Given the description of an element on the screen output the (x, y) to click on. 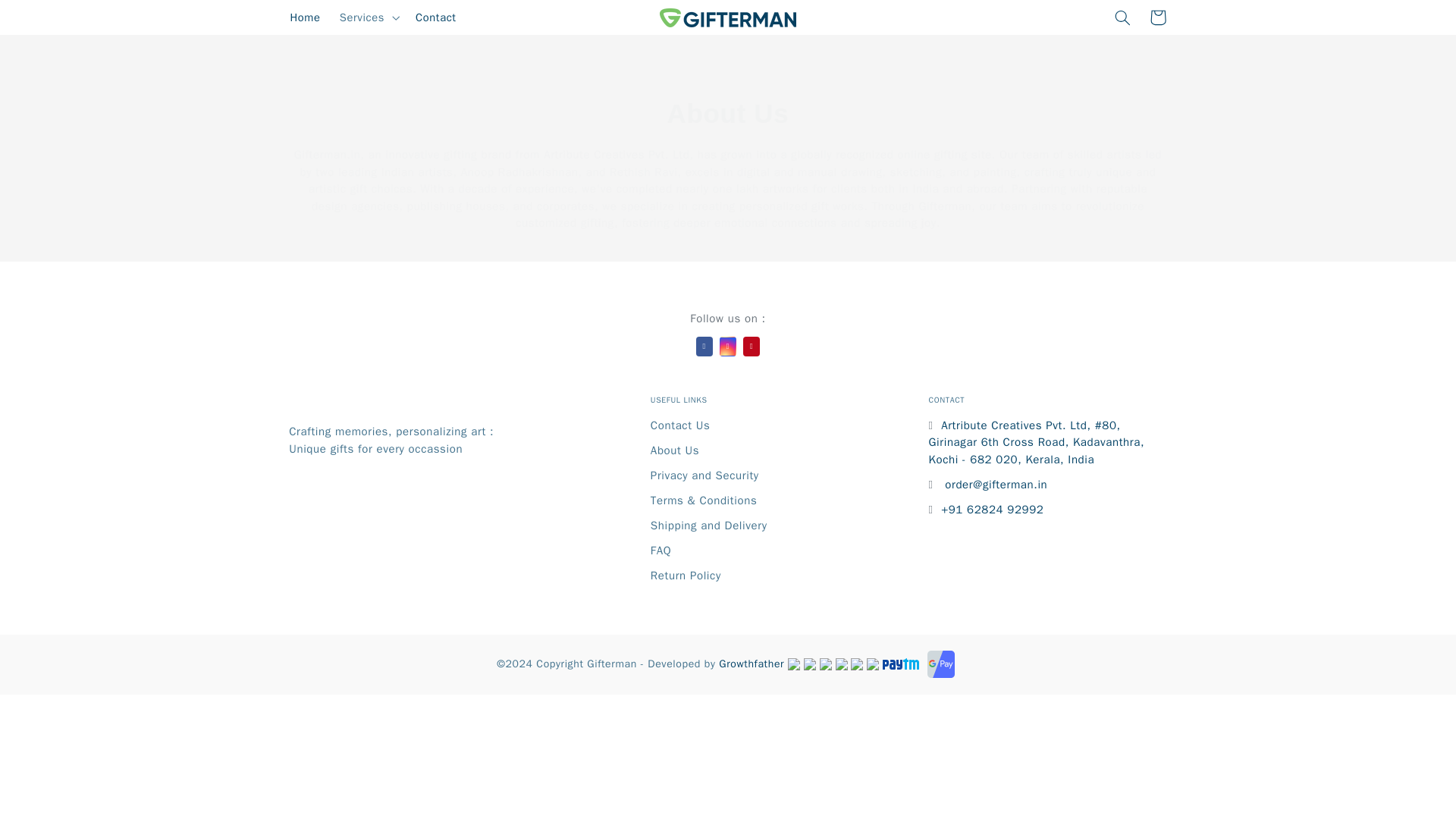
Privacy and Security (704, 475)
Contact (435, 17)
FAQ (660, 550)
Cart (1157, 17)
Home (305, 17)
Shipping and Delivery (708, 525)
Skip to content (48, 18)
Contact Us (680, 425)
About Us (674, 450)
About Us (727, 113)
